Given the description of an element on the screen output the (x, y) to click on. 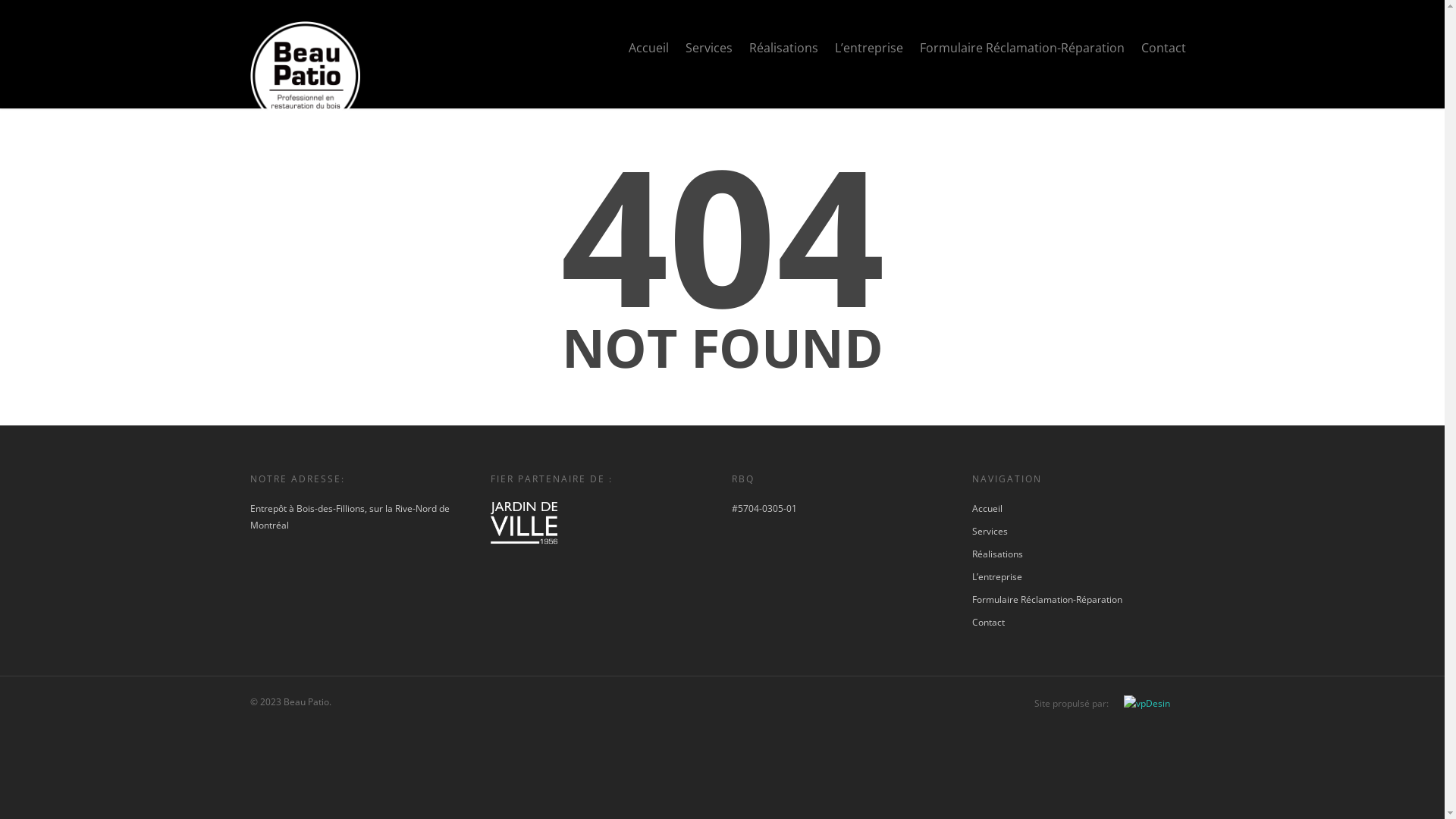
Contact Element type: text (1163, 50)
Accueil Element type: text (648, 50)
Services Element type: text (708, 50)
Contact Element type: text (1083, 622)
Services Element type: text (1083, 531)
Accueil Element type: text (1083, 508)
